Given the description of an element on the screen output the (x, y) to click on. 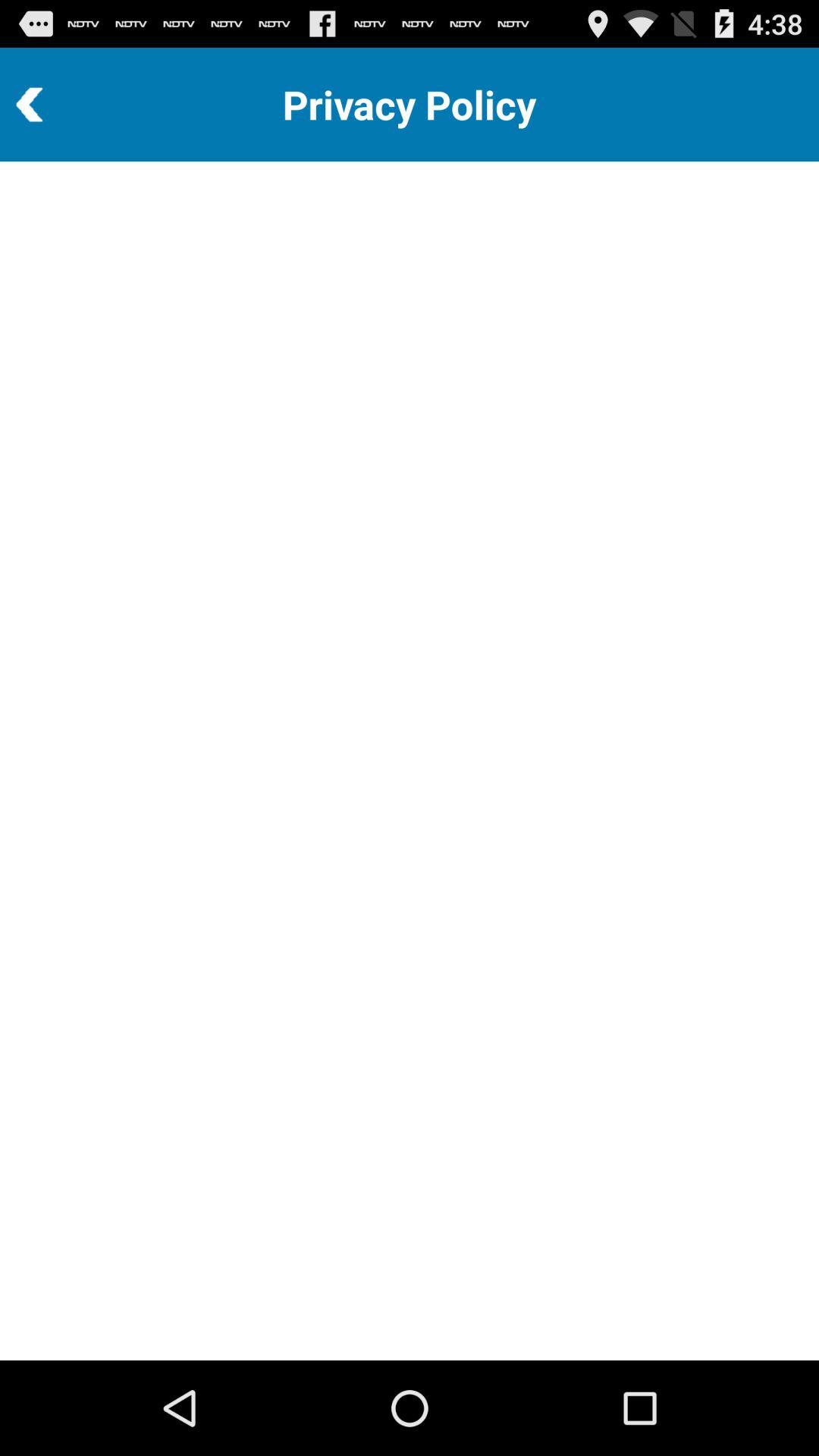
turn off app next to the privacy policy app (70, 104)
